Given the description of an element on the screen output the (x, y) to click on. 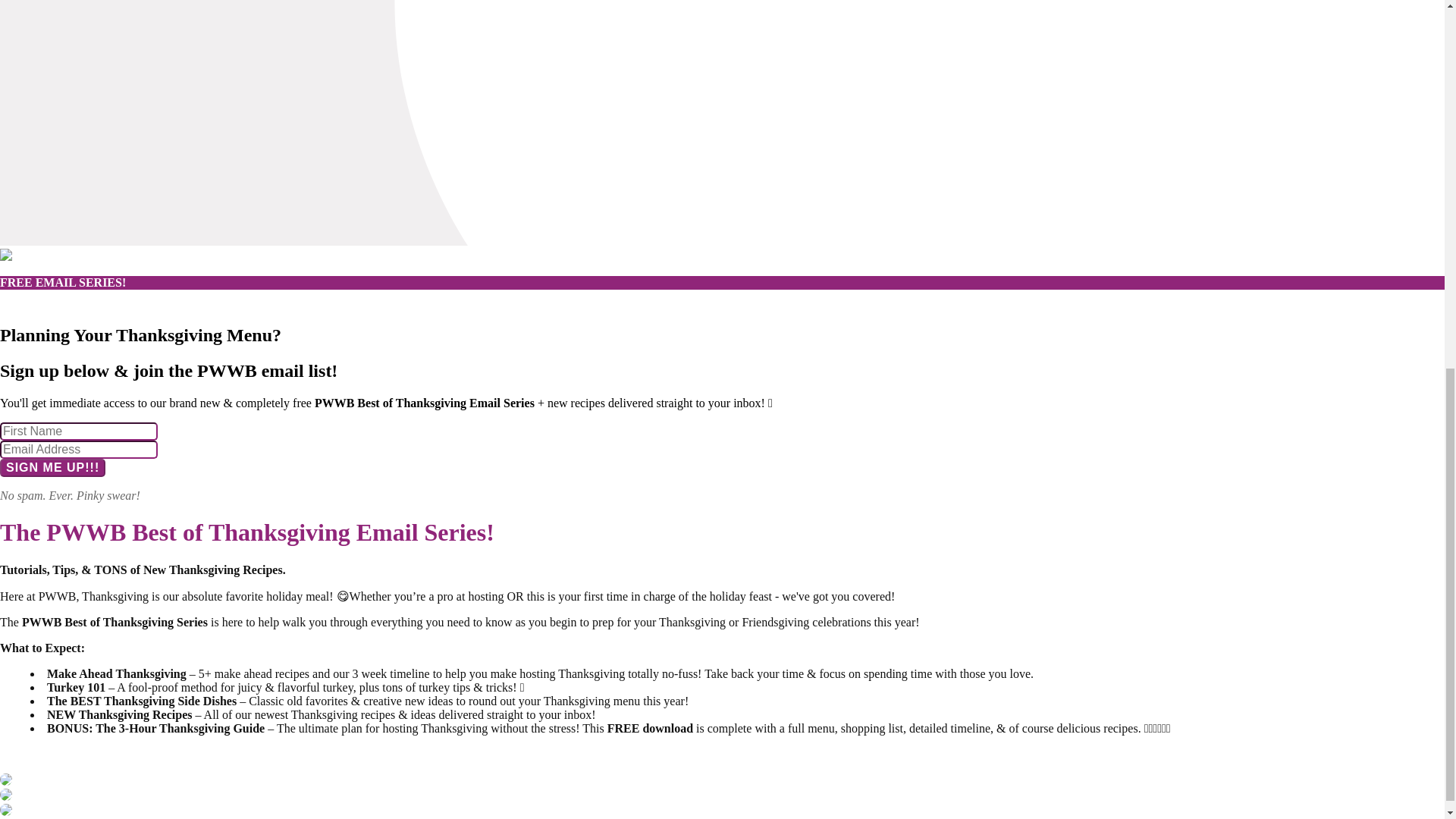
SIGN ME UP!!! (52, 467)
